Given the description of an element on the screen output the (x, y) to click on. 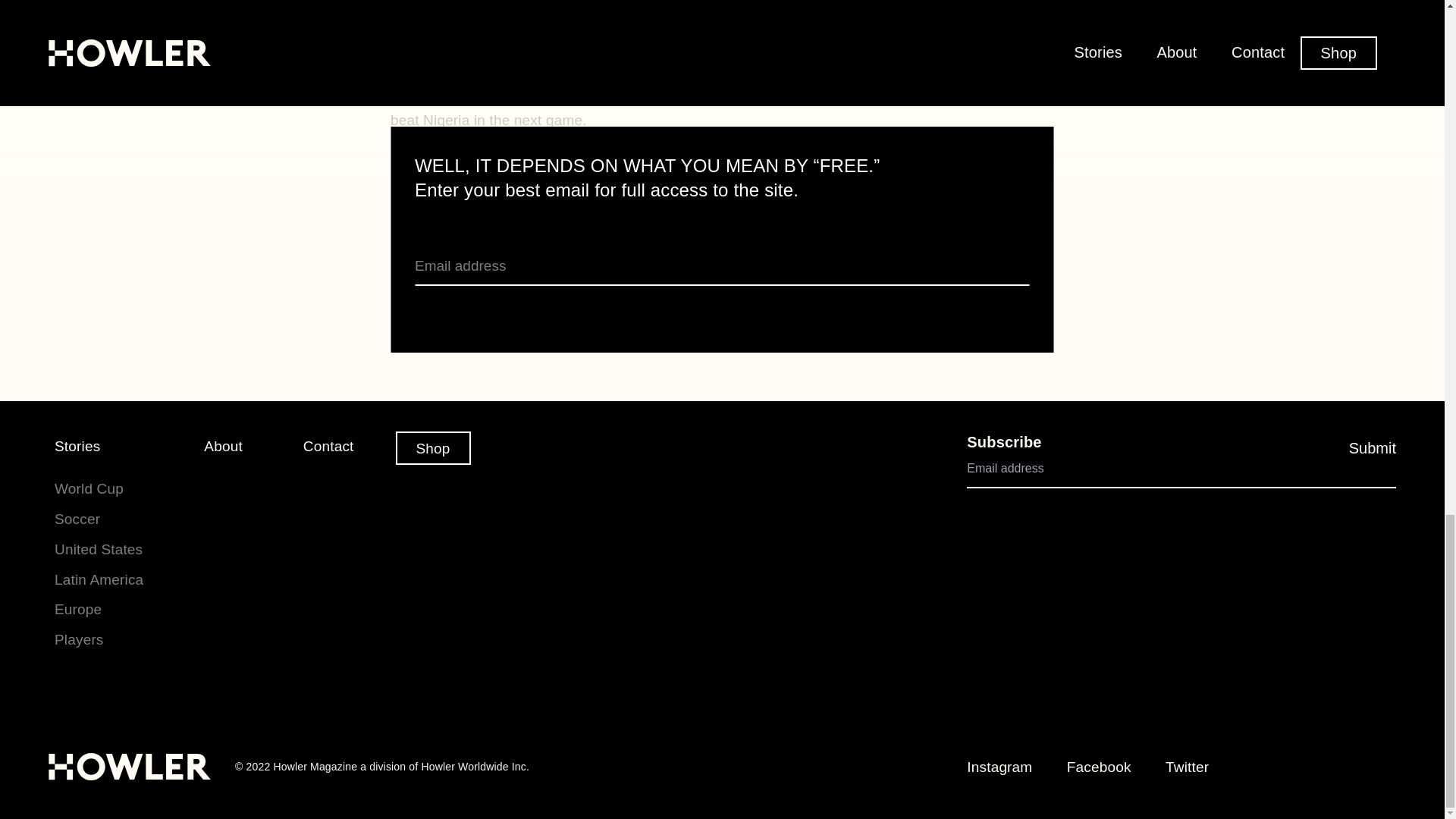
Europe (78, 609)
Submit (1372, 448)
Contact (327, 446)
Facebook (1099, 766)
Latin America (98, 579)
Submit (1372, 448)
Players (79, 639)
Stories (77, 446)
United States (98, 549)
About (223, 446)
Soccer (77, 519)
World Cup (89, 488)
Shop (432, 448)
Twitter (1187, 766)
Instagram (999, 766)
